Given the description of an element on the screen output the (x, y) to click on. 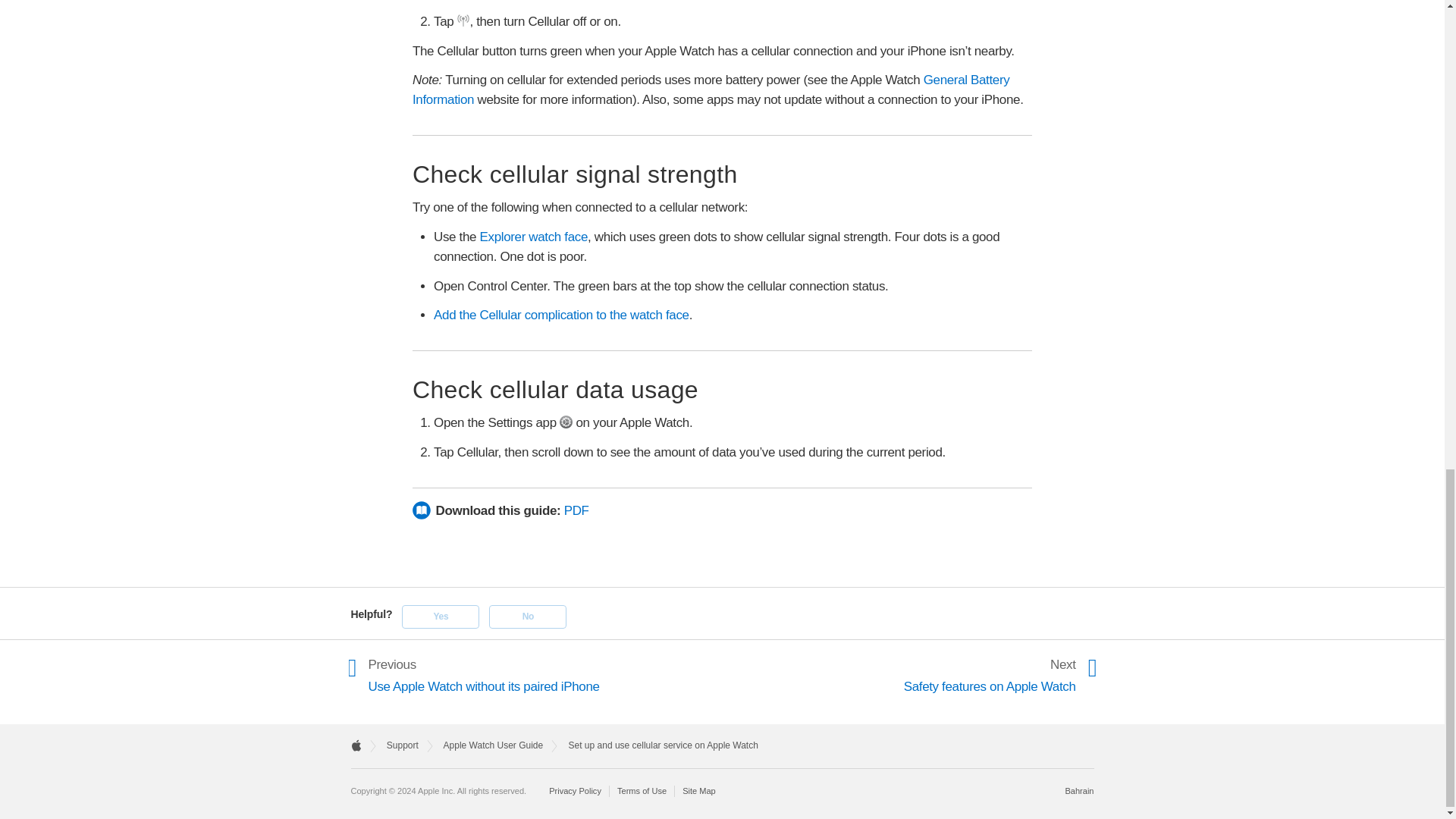
Choose your country or region (1078, 790)
Not helpful (527, 616)
Solved my problem (440, 616)
